Given the description of an element on the screen output the (x, y) to click on. 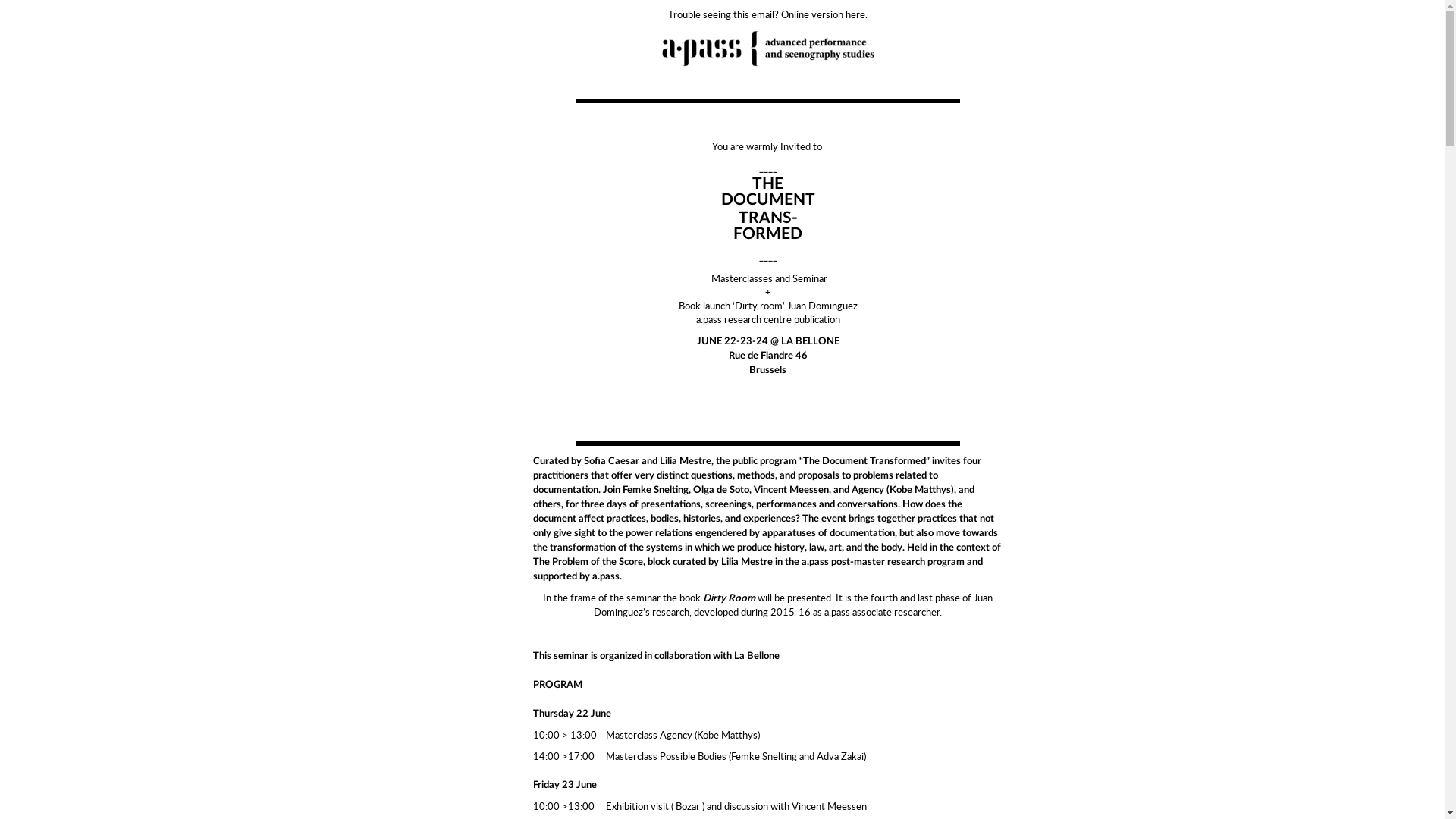
here Element type: text (855, 14)
